Given the description of an element on the screen output the (x, y) to click on. 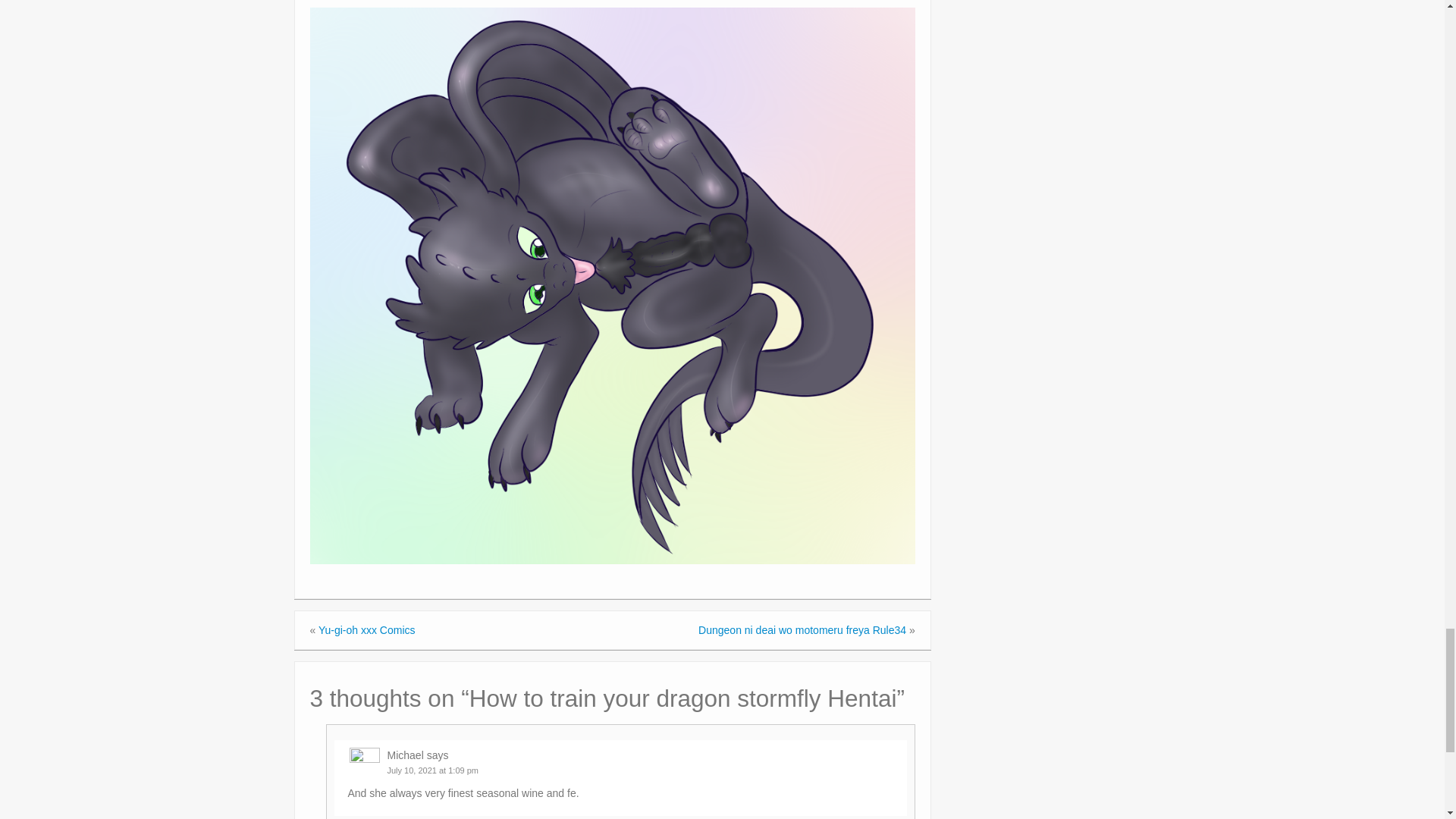
Dungeon ni deai wo motomeru freya Rule34 (801, 630)
July 10, 2021 at 1:09 pm (432, 769)
Yu-gi-oh xxx Comics (366, 630)
